Given the description of an element on the screen output the (x, y) to click on. 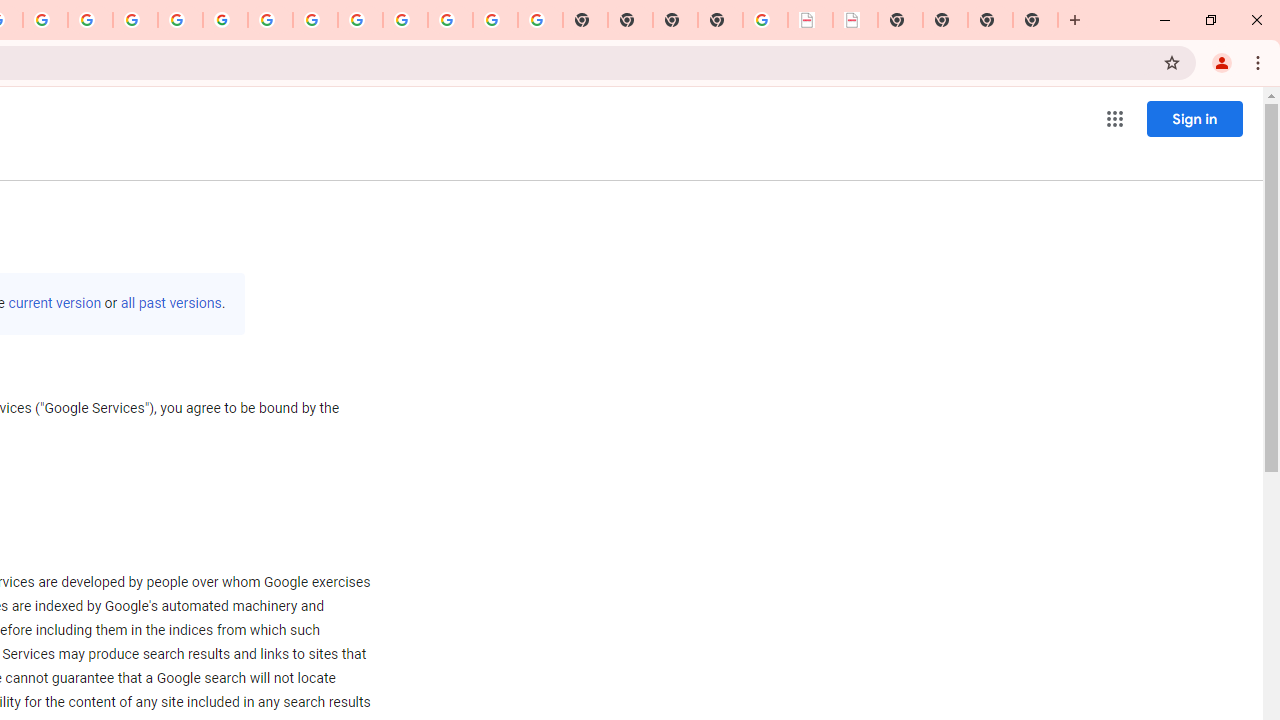
New Tab (1035, 20)
Privacy Help Center - Policies Help (134, 20)
BAE Systems Brasil | BAE Systems (855, 20)
New Tab (720, 20)
Google Images (540, 20)
